Given the description of an element on the screen output the (x, y) to click on. 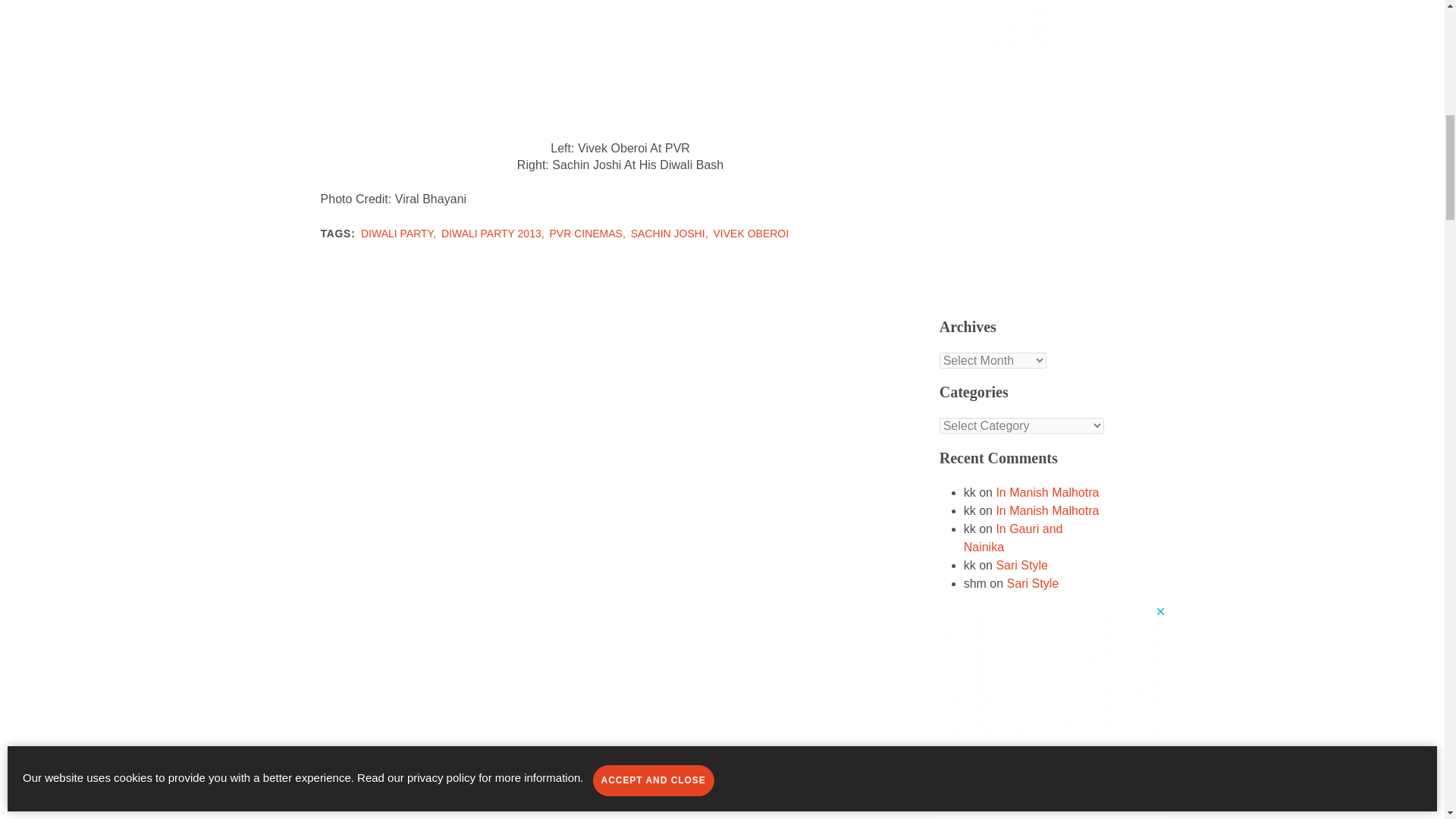
DIWALI PARTY, (400, 233)
Sari Style (1020, 564)
SACHIN JOSHI, (670, 233)
VIVEK OBEROI (751, 233)
PVR CINEMAS, (587, 233)
3rd party ad content (1032, 24)
Sari Style (1032, 583)
In Manish Malhotra (1047, 492)
In Manish Malhotra (1047, 510)
DIWALI PARTY 2013, (494, 233)
Advertisement (1058, 180)
3rd party ad content (1053, 712)
In Gauri and Nainika (1012, 537)
